Given the description of an element on the screen output the (x, y) to click on. 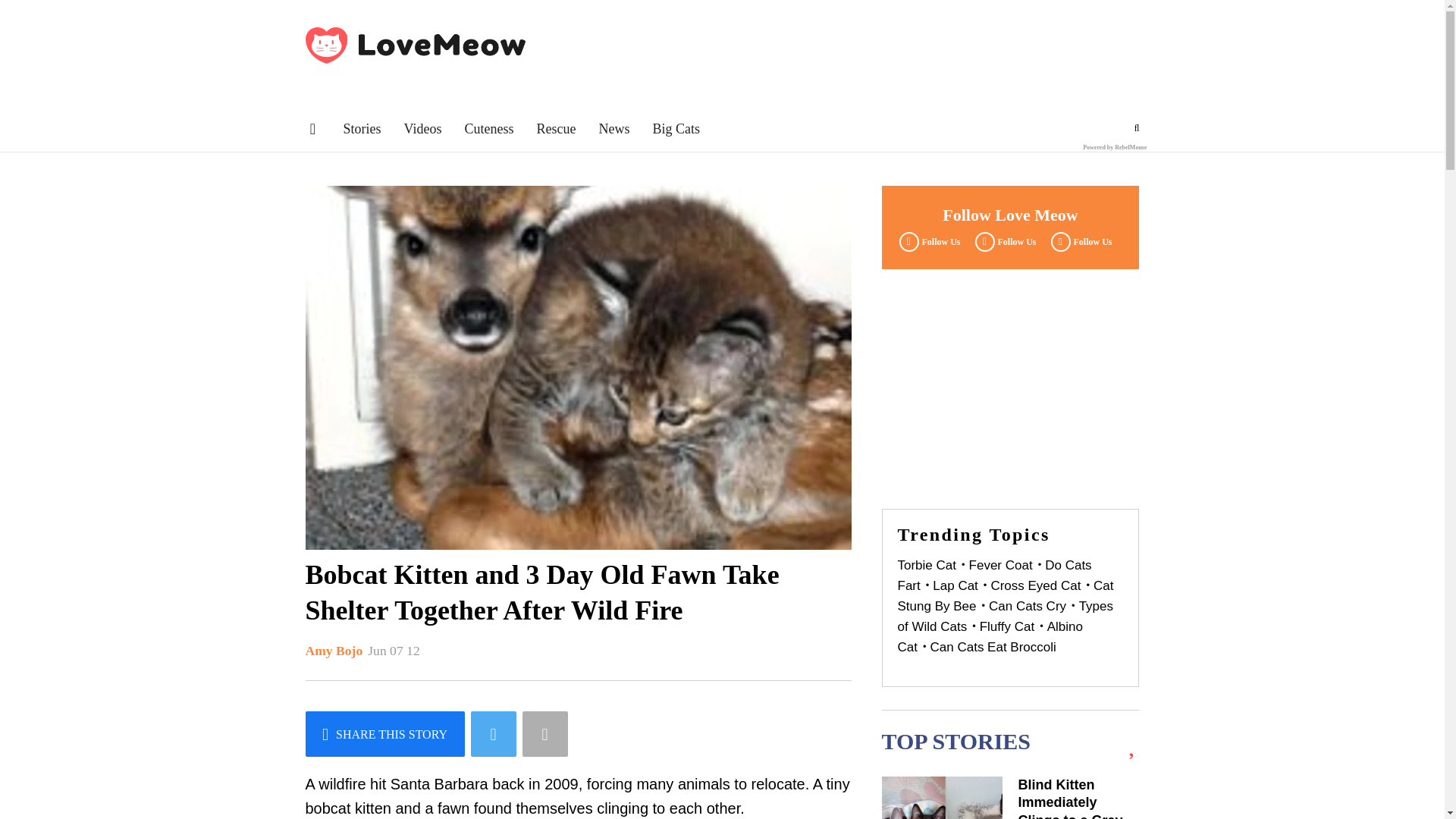
Best CMS (1115, 147)
Cuteness (488, 128)
Amy Bojo (333, 651)
Facebook (926, 241)
Big Cats (676, 128)
Powered by RebelMouse (1115, 147)
Twitter (1003, 241)
Instagram (1079, 241)
